Given the description of an element on the screen output the (x, y) to click on. 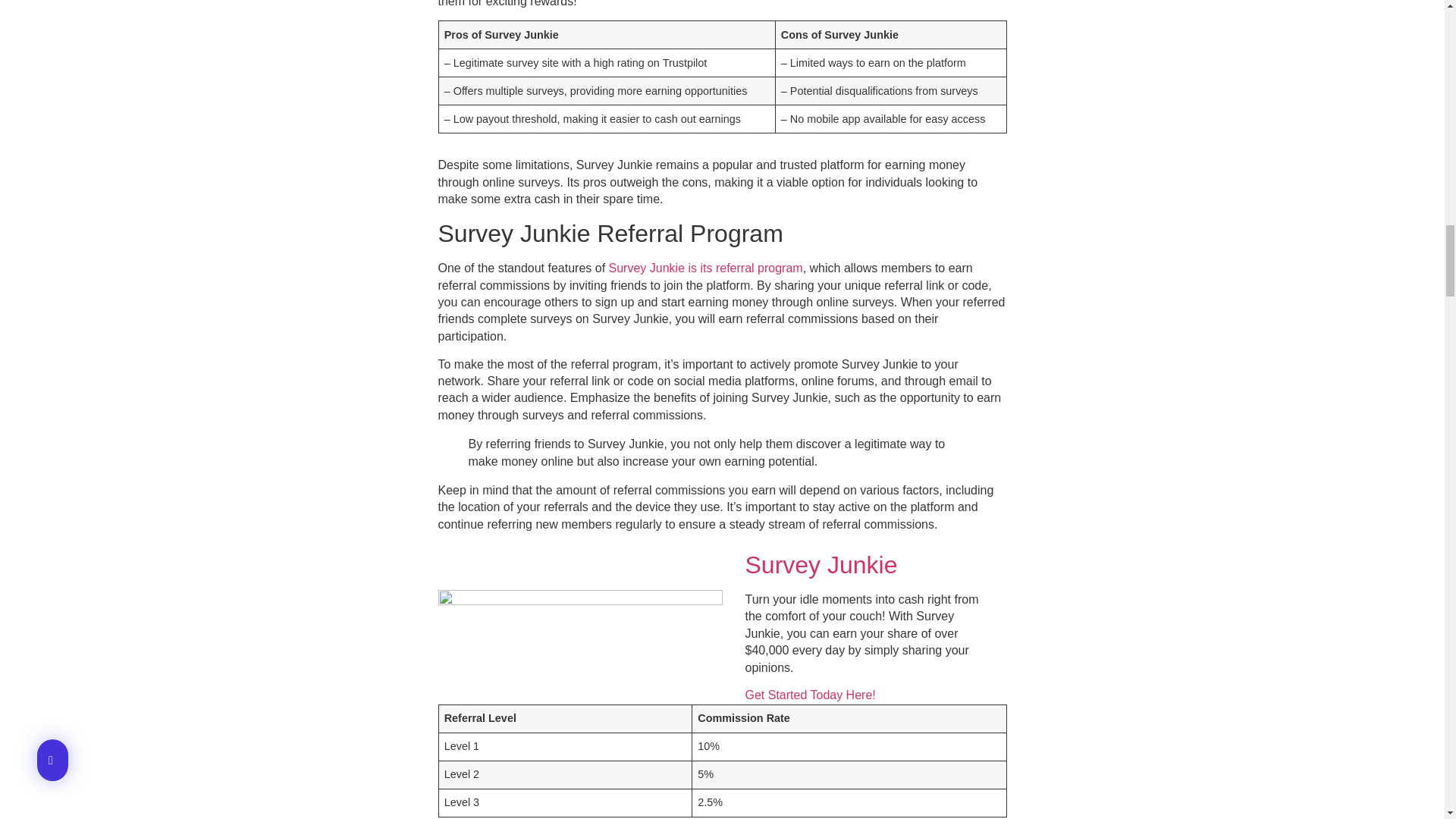
Survey Junkie  (824, 564)
Survey Junkie is its referral program (705, 267)
Get Started Today Here! (809, 694)
